Given the description of an element on the screen output the (x, y) to click on. 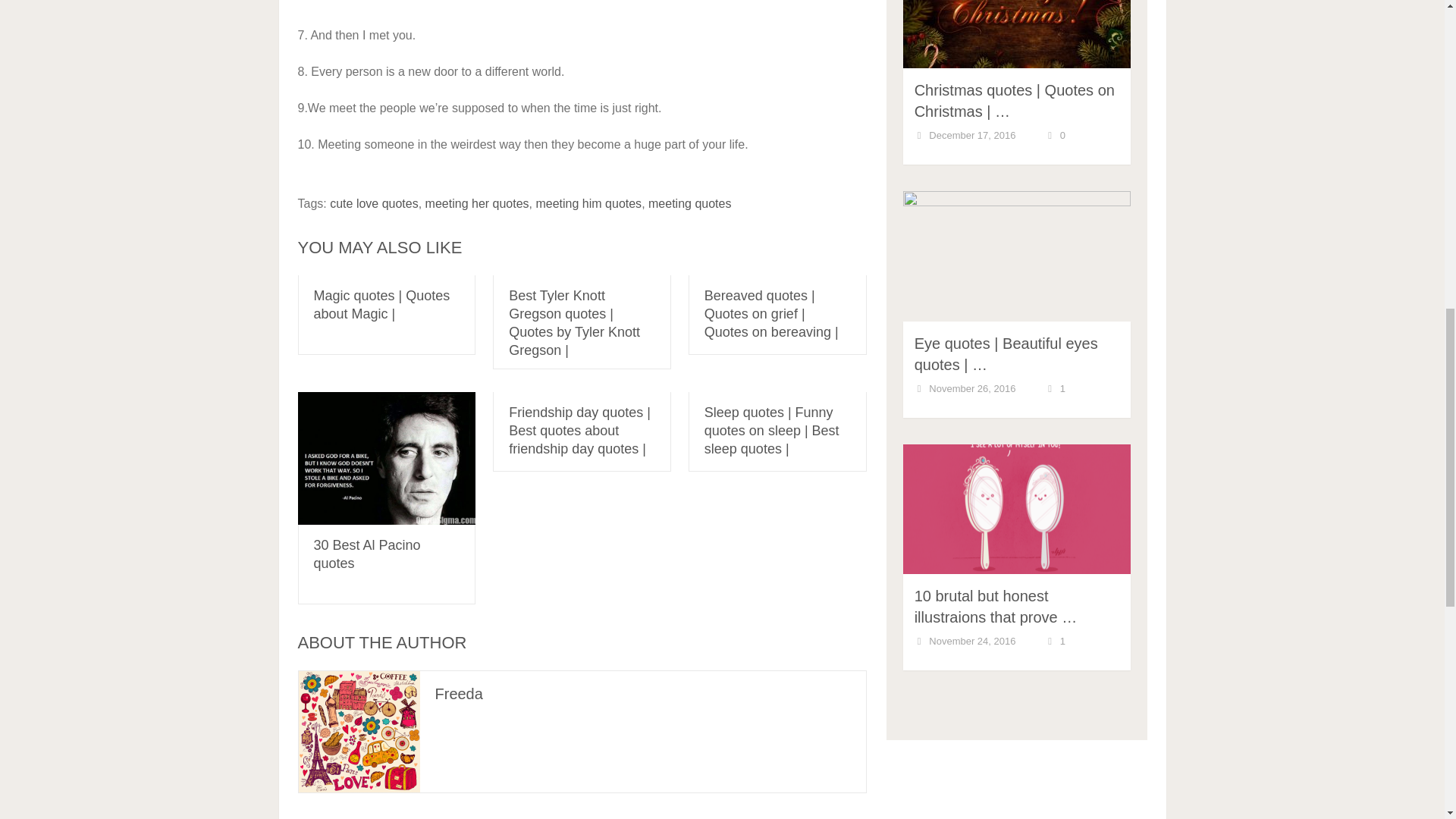
meeting quotes (688, 203)
cute love quotes (374, 203)
meeting him quotes (588, 203)
Freeda (459, 693)
30 Best Al Pacino quotes (386, 458)
meeting her quotes (477, 203)
30 Best Al Pacino quotes (367, 553)
